Given the description of an element on the screen output the (x, y) to click on. 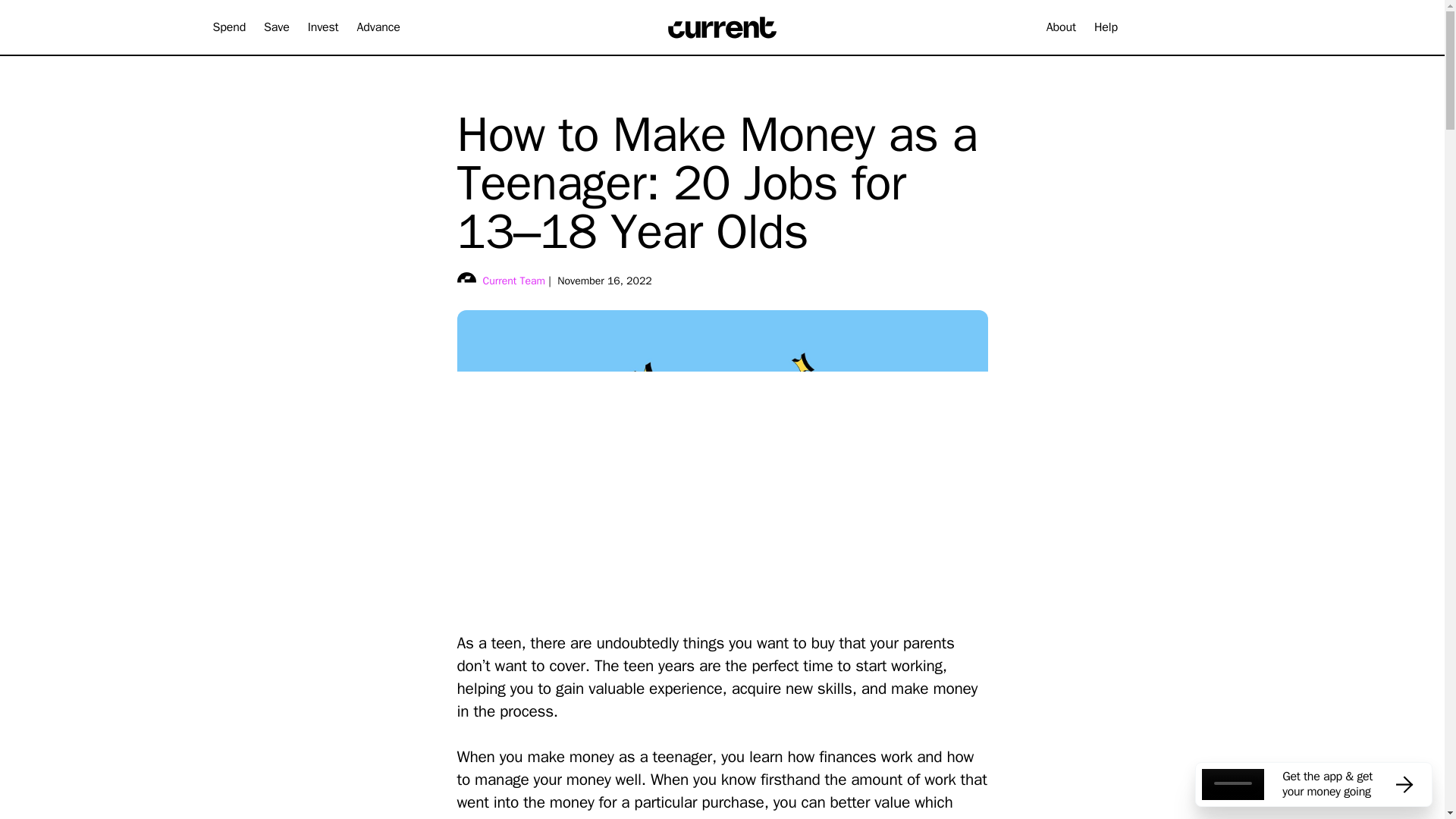
Current Logo (722, 27)
About (1060, 27)
Save (276, 27)
Get started (1183, 27)
Help (1106, 27)
Go to home - Current.com (721, 27)
Advance (378, 27)
Spend (229, 27)
Current Team (512, 281)
Invest (323, 27)
